Given the description of an element on the screen output the (x, y) to click on. 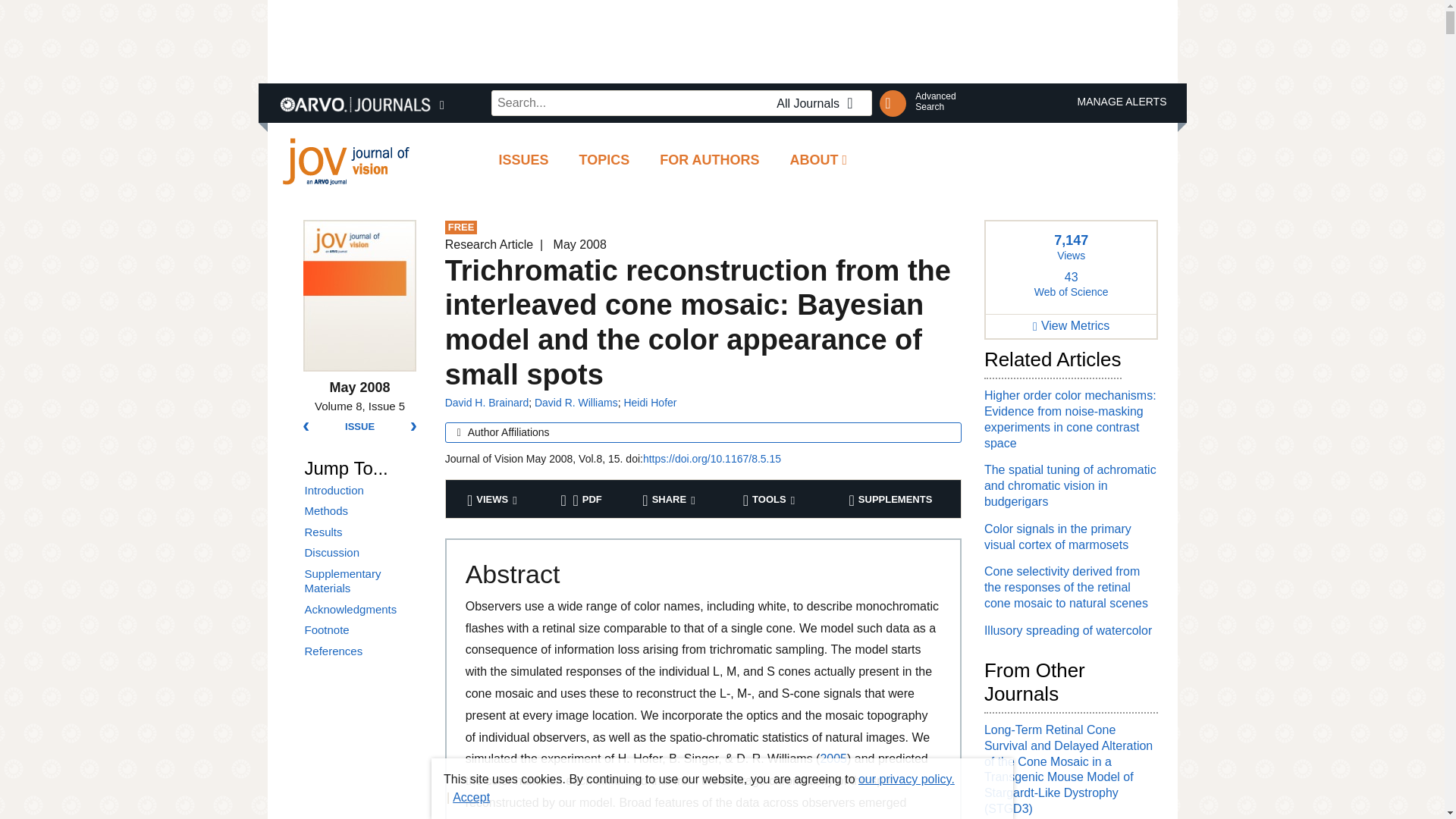
Footnote (362, 630)
Methods (362, 510)
Acknowledgments (362, 609)
TOPICS (604, 160)
Results (362, 531)
ABOUT (818, 160)
Acknowledgments (362, 609)
ISSUES (523, 160)
Methods (935, 101)
ISSUE (362, 510)
Supplementary Materials (359, 426)
References (362, 581)
FOR AUTHORS (362, 651)
Introduction (709, 160)
